Given the description of an element on the screen output the (x, y) to click on. 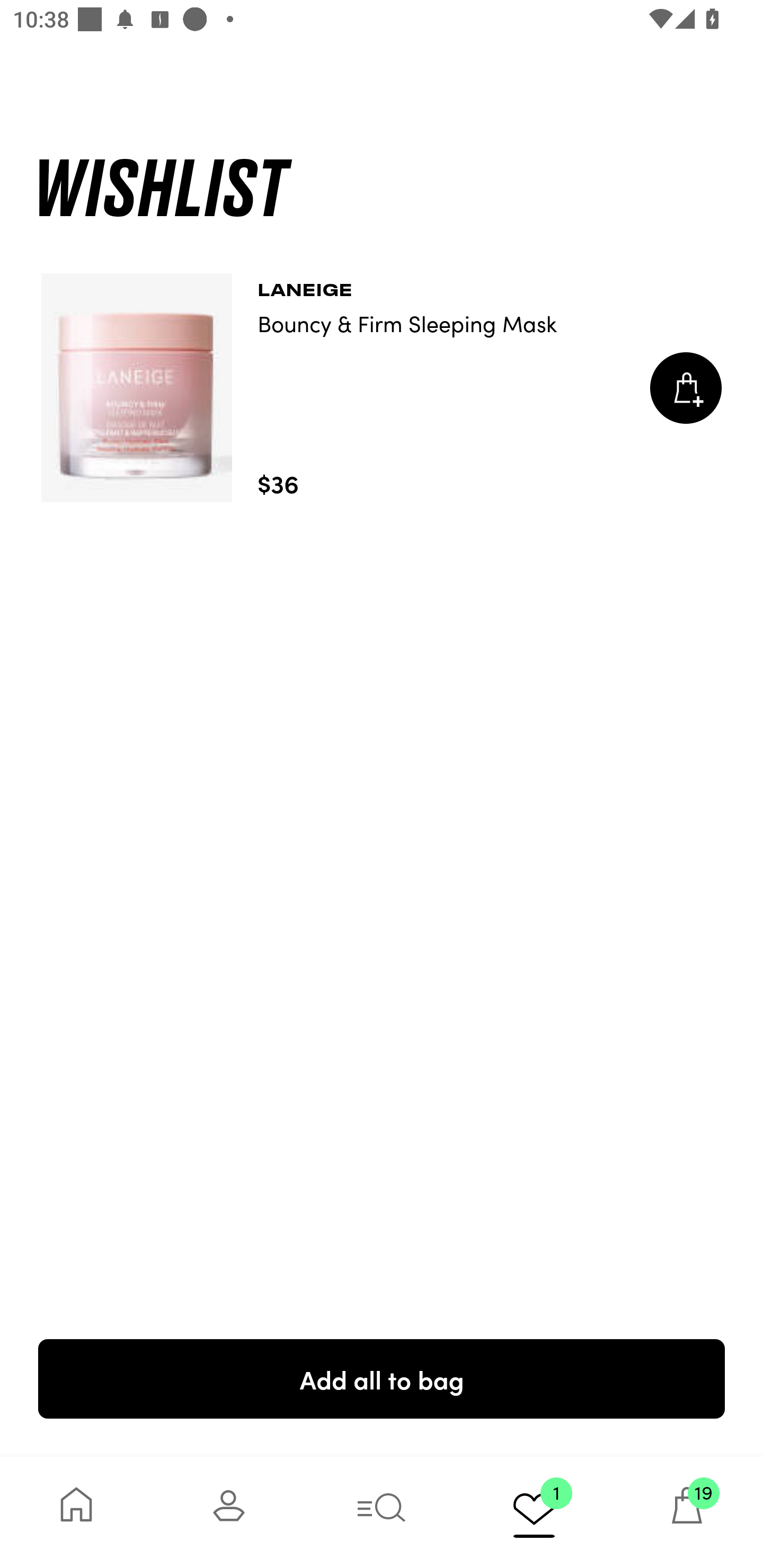
LANEIGE Bouncy & Firm Sleeping Mask $36 (381, 388)
Add all to bag (381, 1379)
1 (533, 1512)
19 (686, 1512)
